Given the description of an element on the screen output the (x, y) to click on. 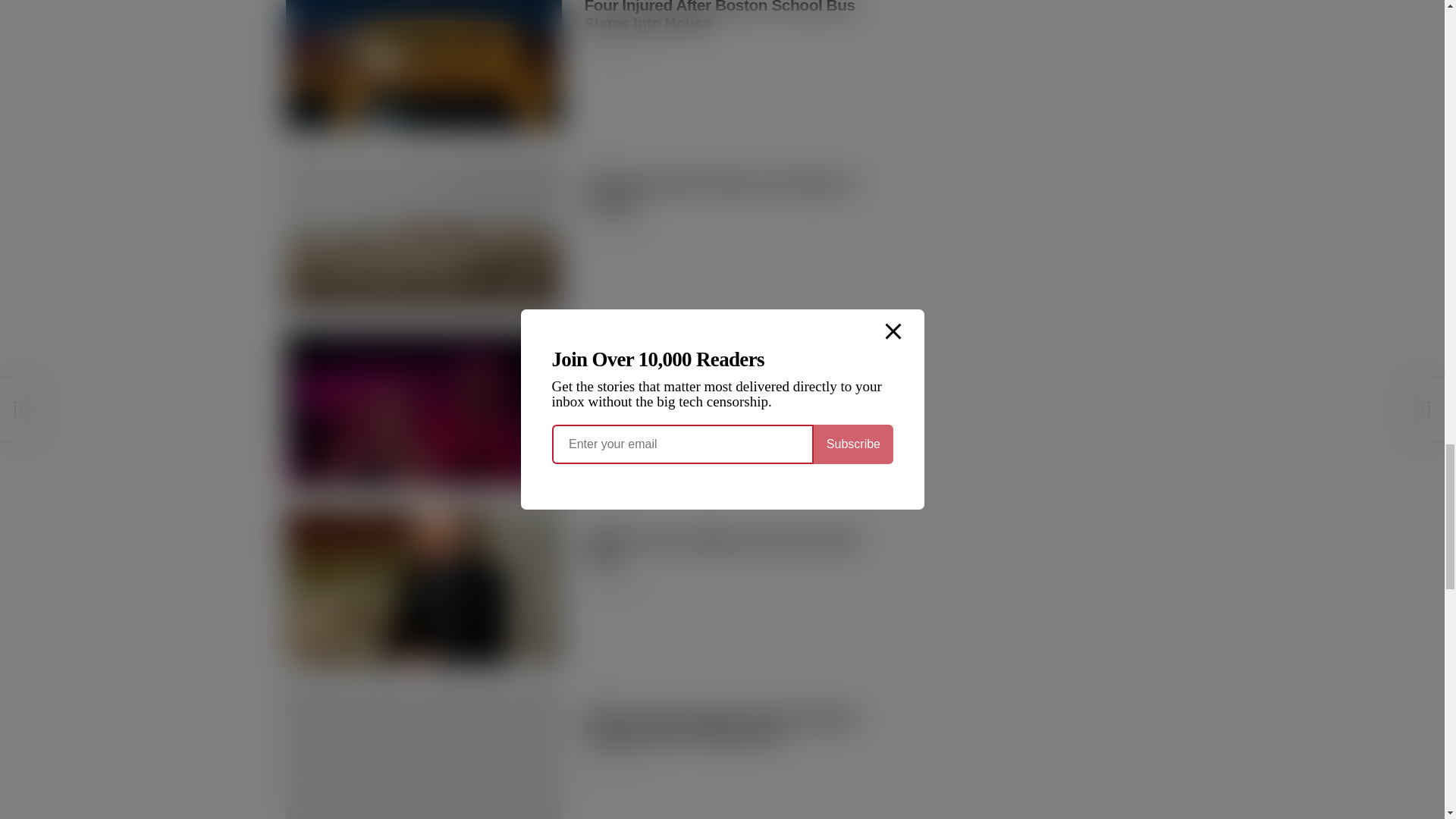
Five Dead After Private Jet Crashes In Virginia (422, 230)
March 11, 2024, 1:06 pm (613, 228)
March 11, 2024, 11:54 am (613, 407)
March 11, 2024, 5:22 pm (613, 50)
Beloved Actor Malachy McCourt Dead At 92 (422, 587)
Four Injured After Boston School Bus Slams Into House (422, 65)
